Given the description of an element on the screen output the (x, y) to click on. 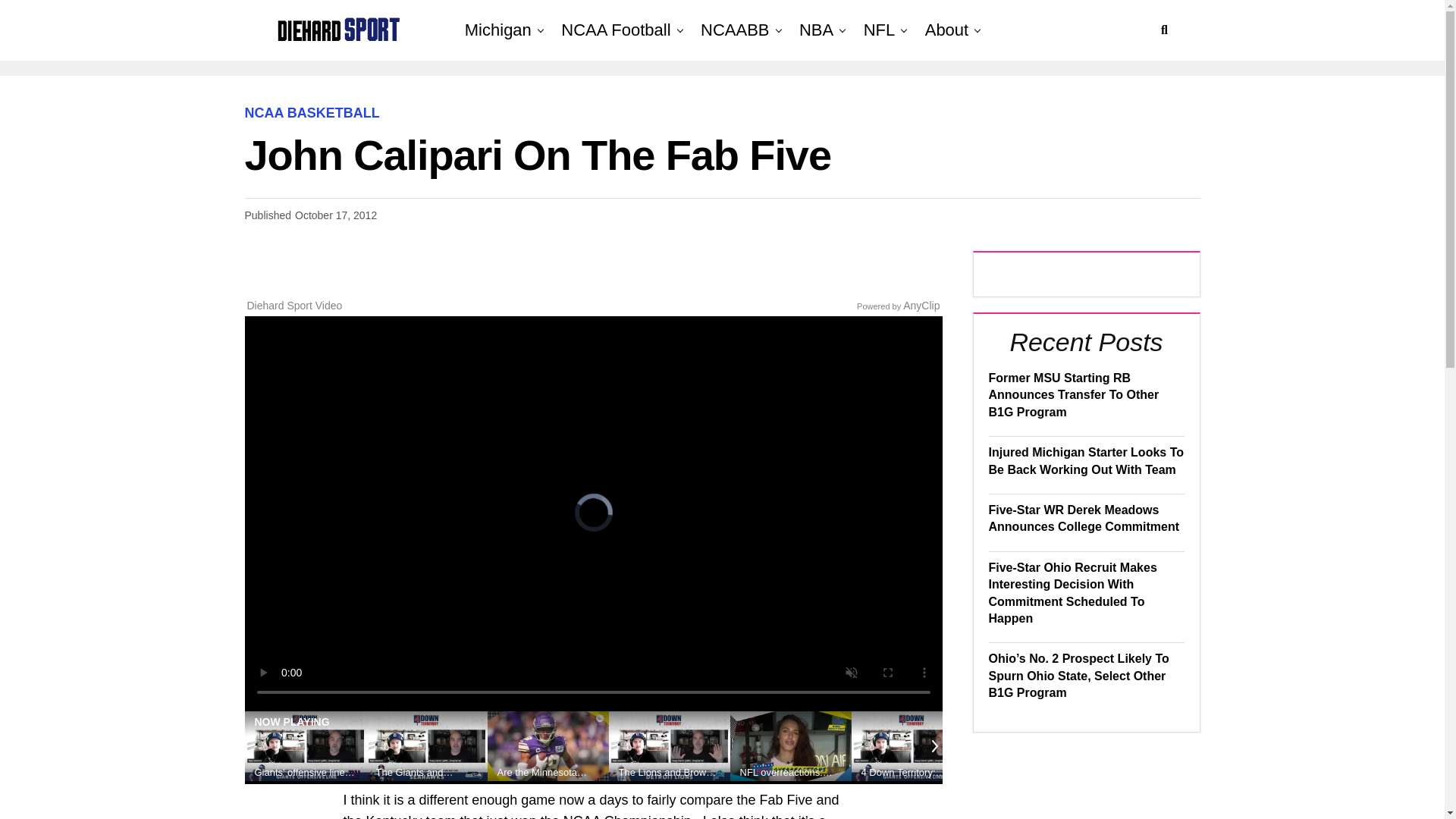
The Lions and Browns are ready for prime time (669, 772)
The Giants and Seahawks have me worried (426, 772)
NCAABB (734, 30)
NCAA Football (615, 30)
Michigan (497, 30)
About (946, 30)
